Given the description of an element on the screen output the (x, y) to click on. 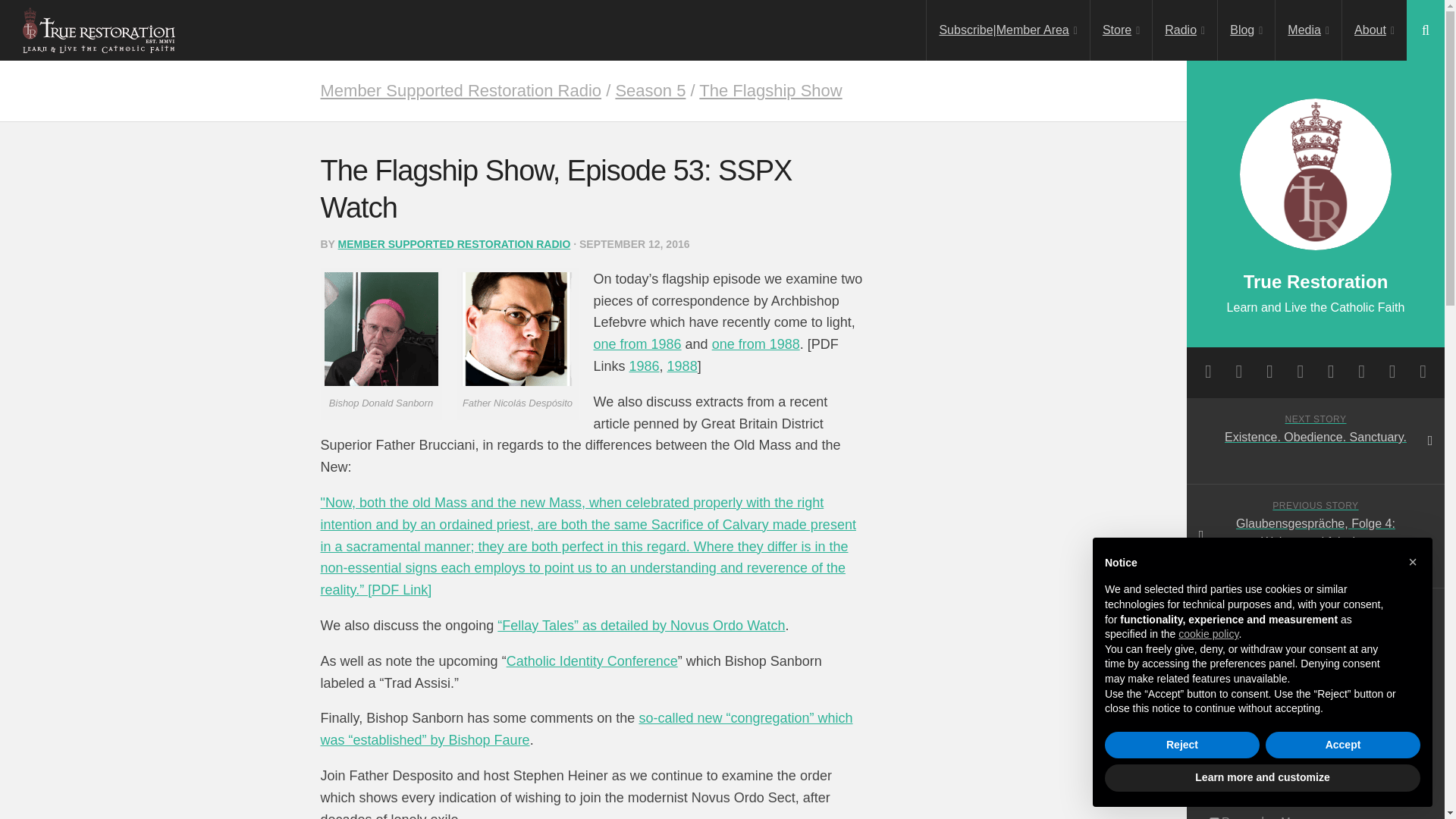
Posts by Member Supported Restoration Radio (453, 244)
Store (1120, 30)
Blog (1246, 30)
Radio (1185, 30)
Media (1307, 30)
